Given the description of an element on the screen output the (x, y) to click on. 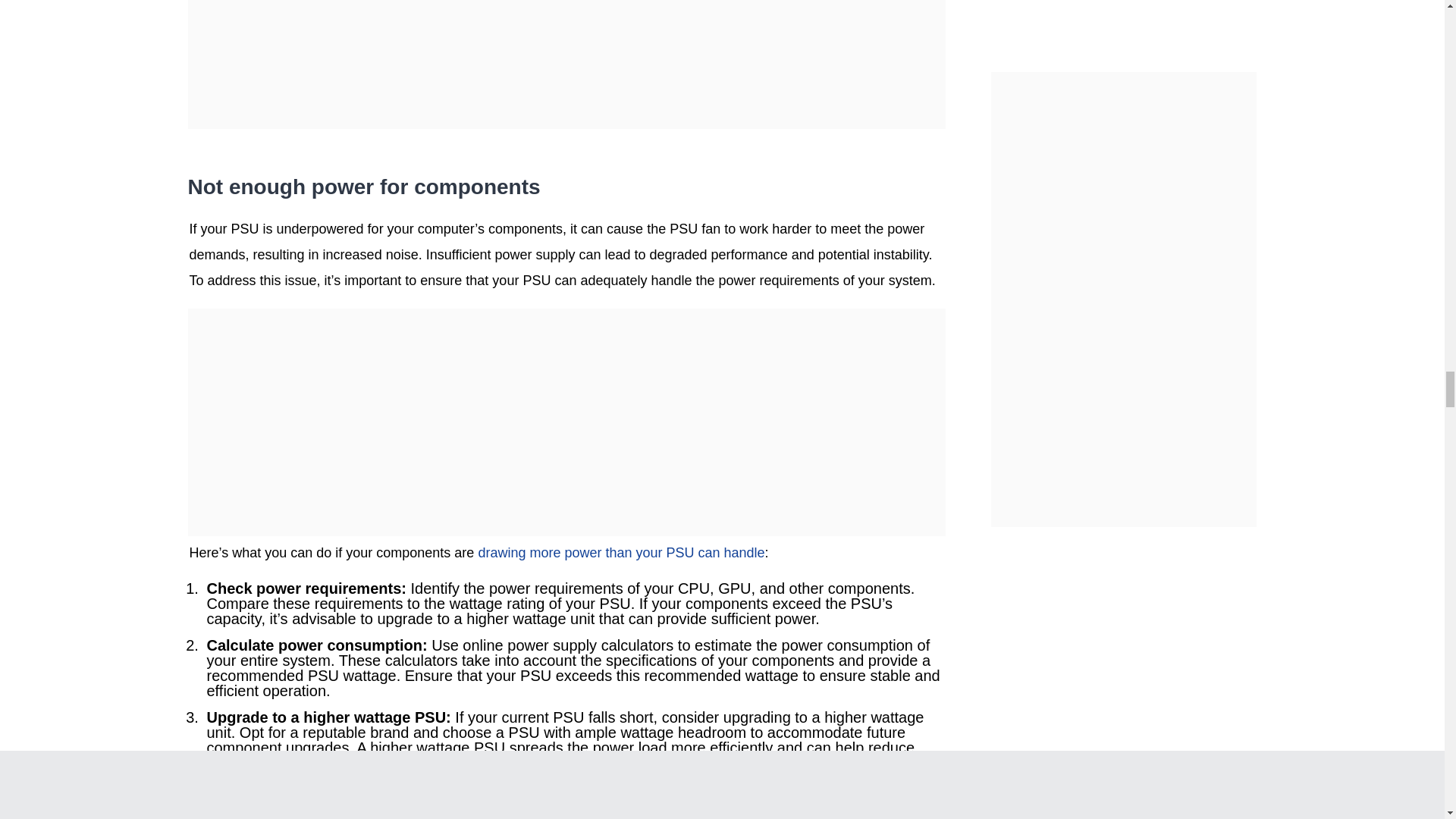
drawing more power than your PSU can handle (620, 552)
